Given the description of an element on the screen output the (x, y) to click on. 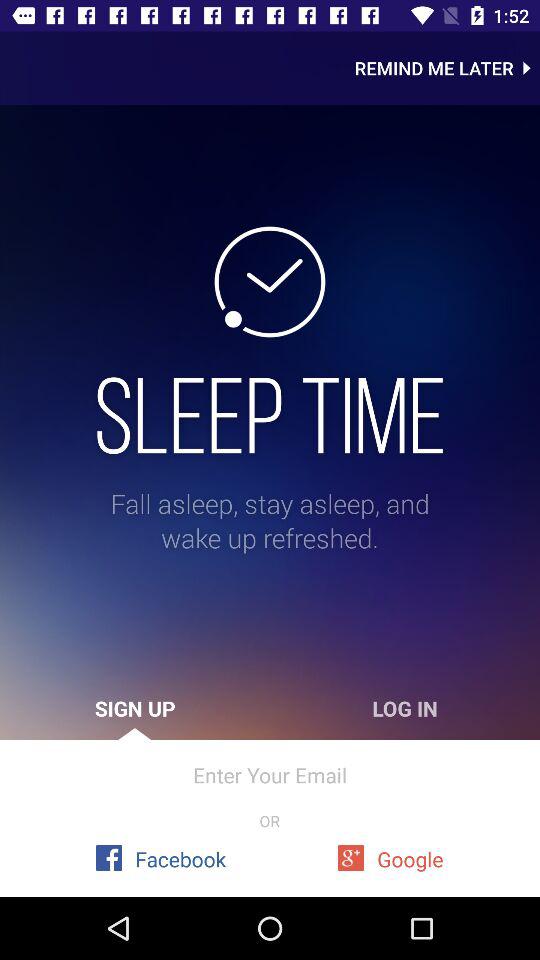
select enter your email (270, 774)
